Given the description of an element on the screen output the (x, y) to click on. 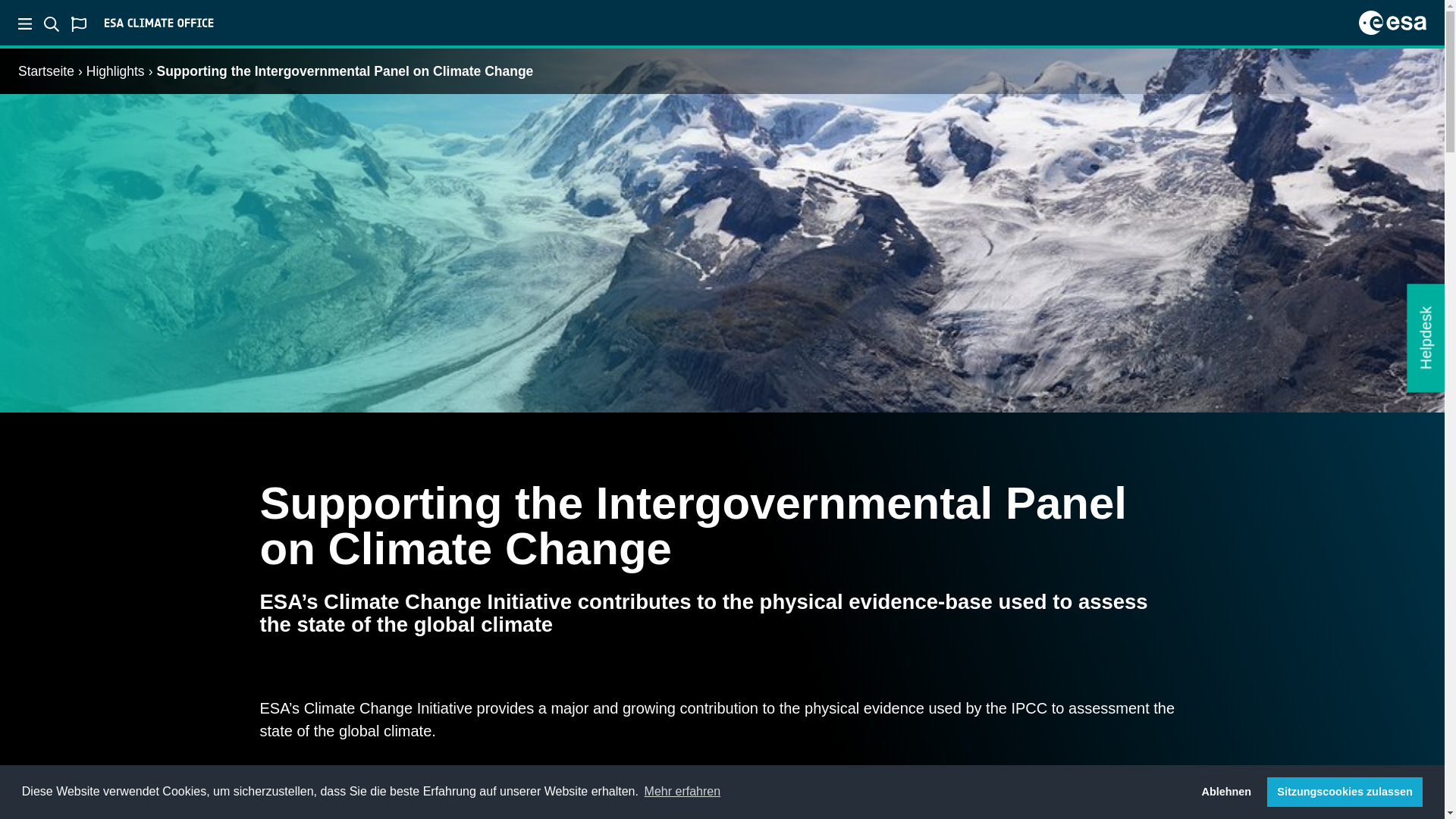
Mehr erfahren (682, 791)
Supporting the Intergovernmental Panel on Climate Change (343, 70)
Sitzungscookies zulassen (1344, 791)
Sixth Assessment report, (450, 784)
Ablehnen (1226, 791)
Startseite (45, 70)
Highlights (114, 70)
